Given the description of an element on the screen output the (x, y) to click on. 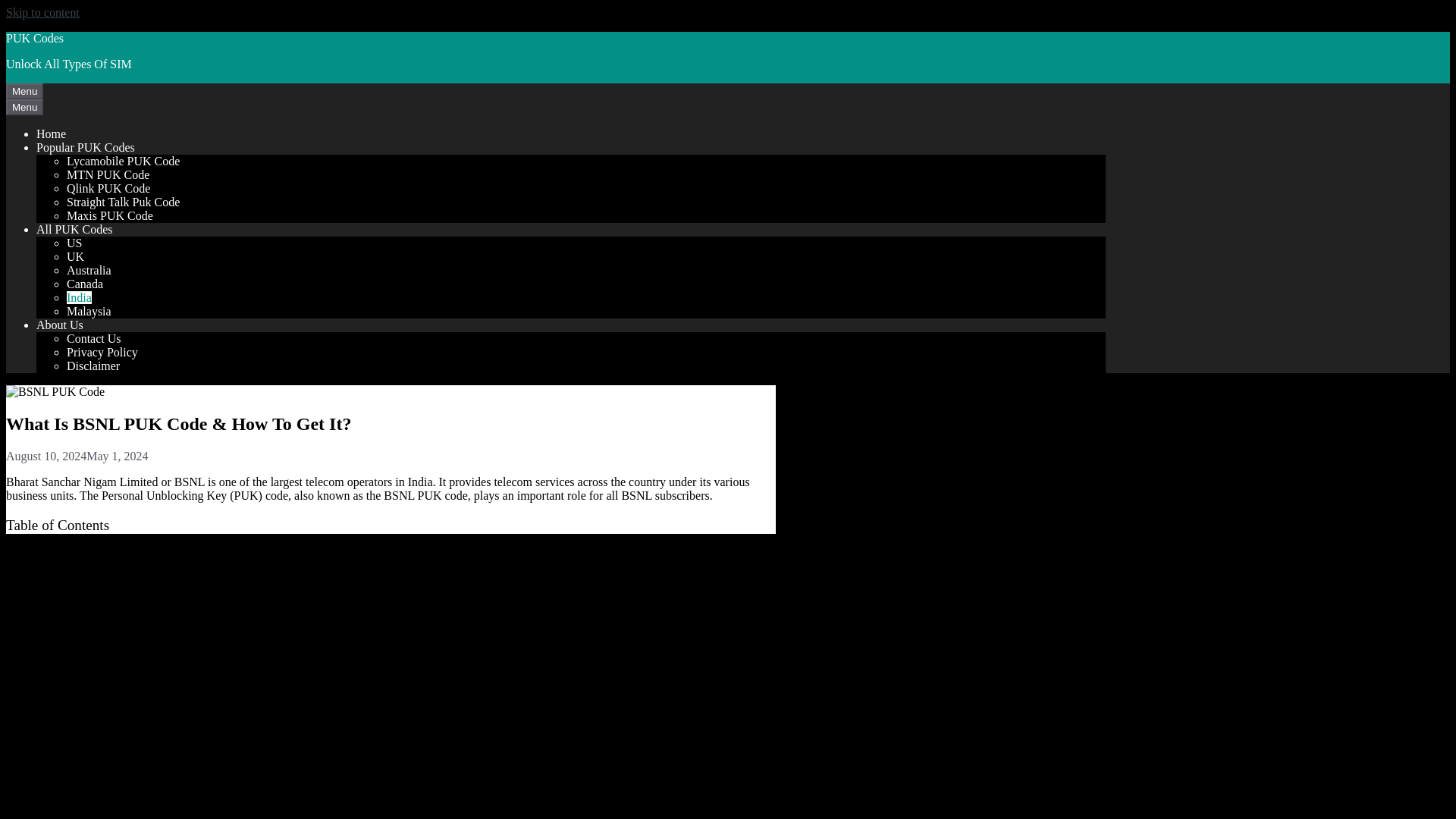
Canada (84, 283)
Straight Talk Puk Code (122, 201)
Menu (24, 91)
Skip to content (42, 11)
Home (50, 133)
PUK Codes (34, 38)
Maxis PUK Code (109, 215)
Disclaimer (92, 365)
Privacy Policy (102, 351)
UK (75, 256)
